Given the description of an element on the screen output the (x, y) to click on. 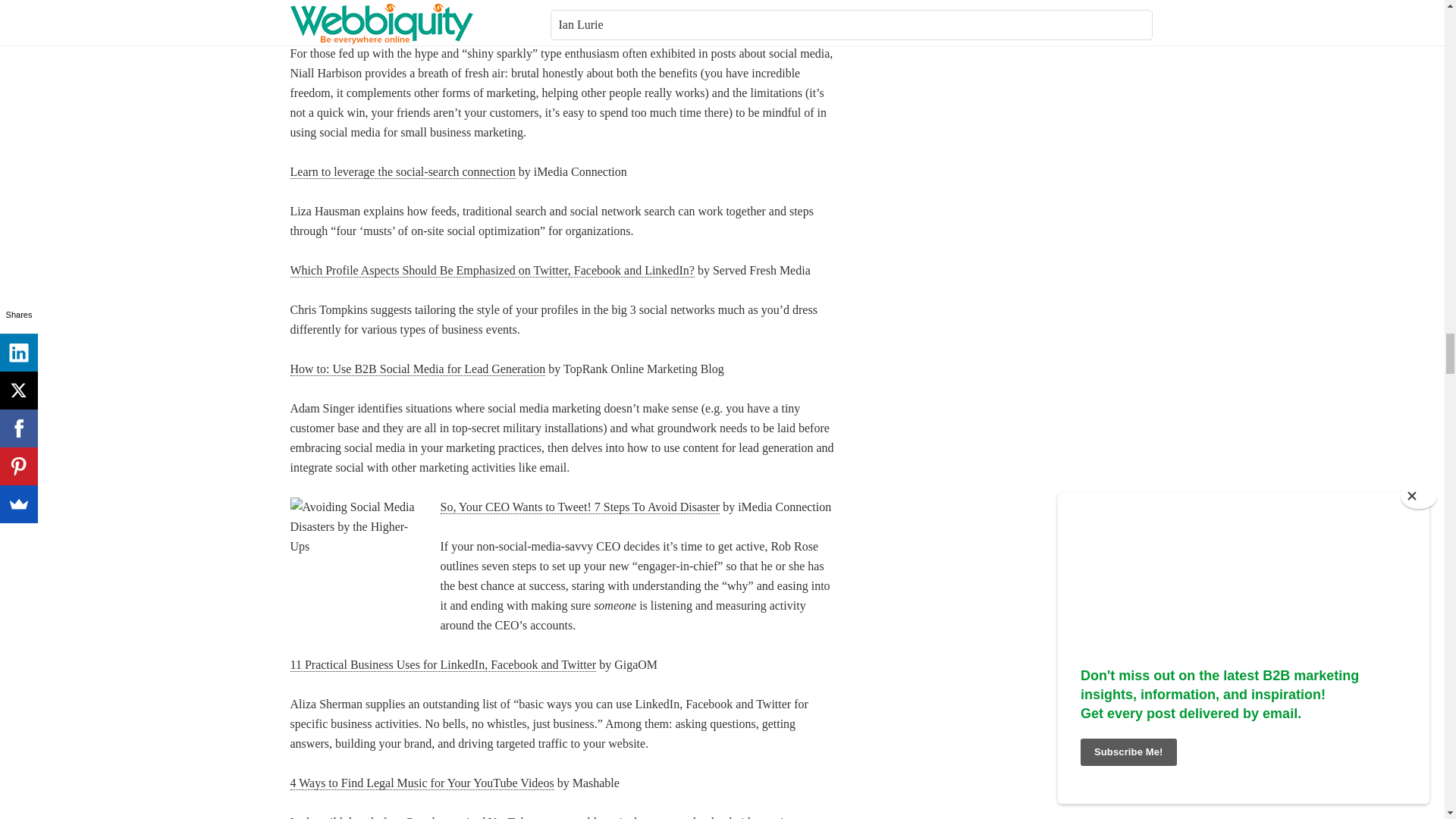
disaster-princess (355, 558)
